Given the description of an element on the screen output the (x, y) to click on. 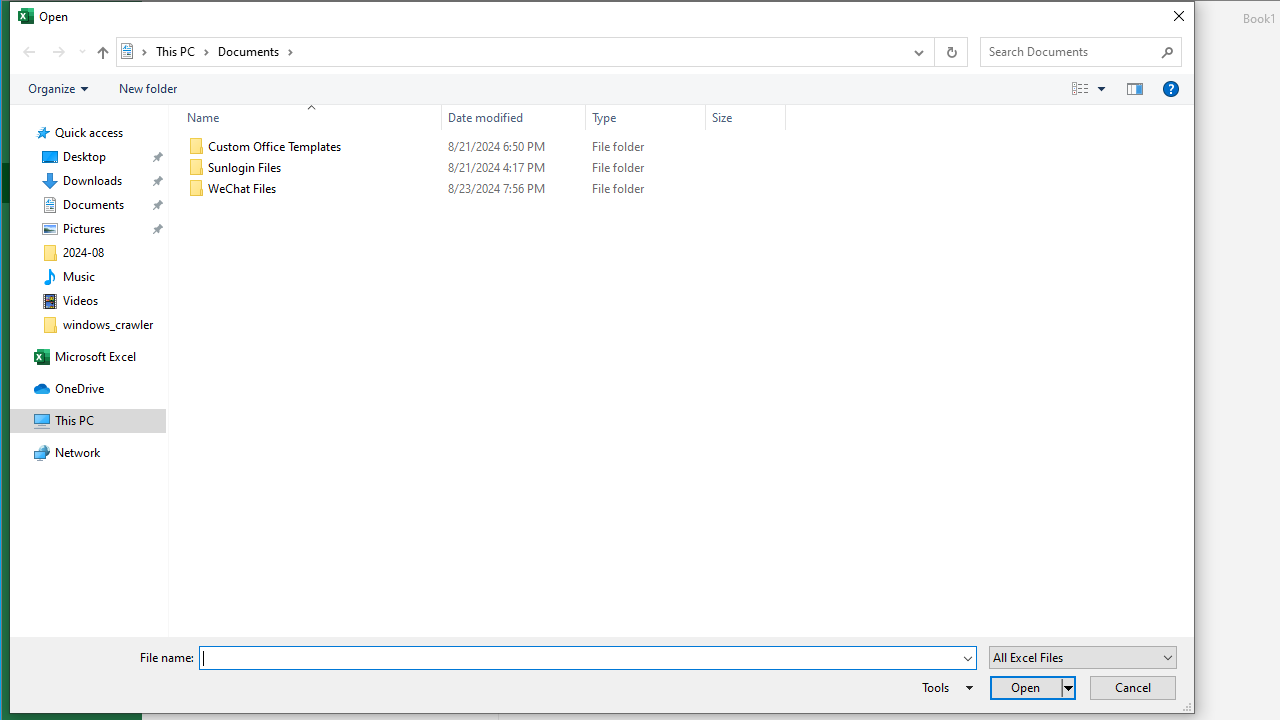
Back (Alt + Left Arrow) (28, 51)
Close (1177, 16)
Type (646, 117)
Name (305, 117)
Date modified (513, 117)
&Help (1171, 89)
Forward (Alt + Right Arrow) (58, 51)
Open (1032, 688)
Preview pane (1135, 89)
Custom Office Templates (483, 146)
Class: UIImage (197, 188)
Search (1167, 51)
Type (646, 188)
Date modified (513, 188)
Open (1168, 657)
